Given the description of an element on the screen output the (x, y) to click on. 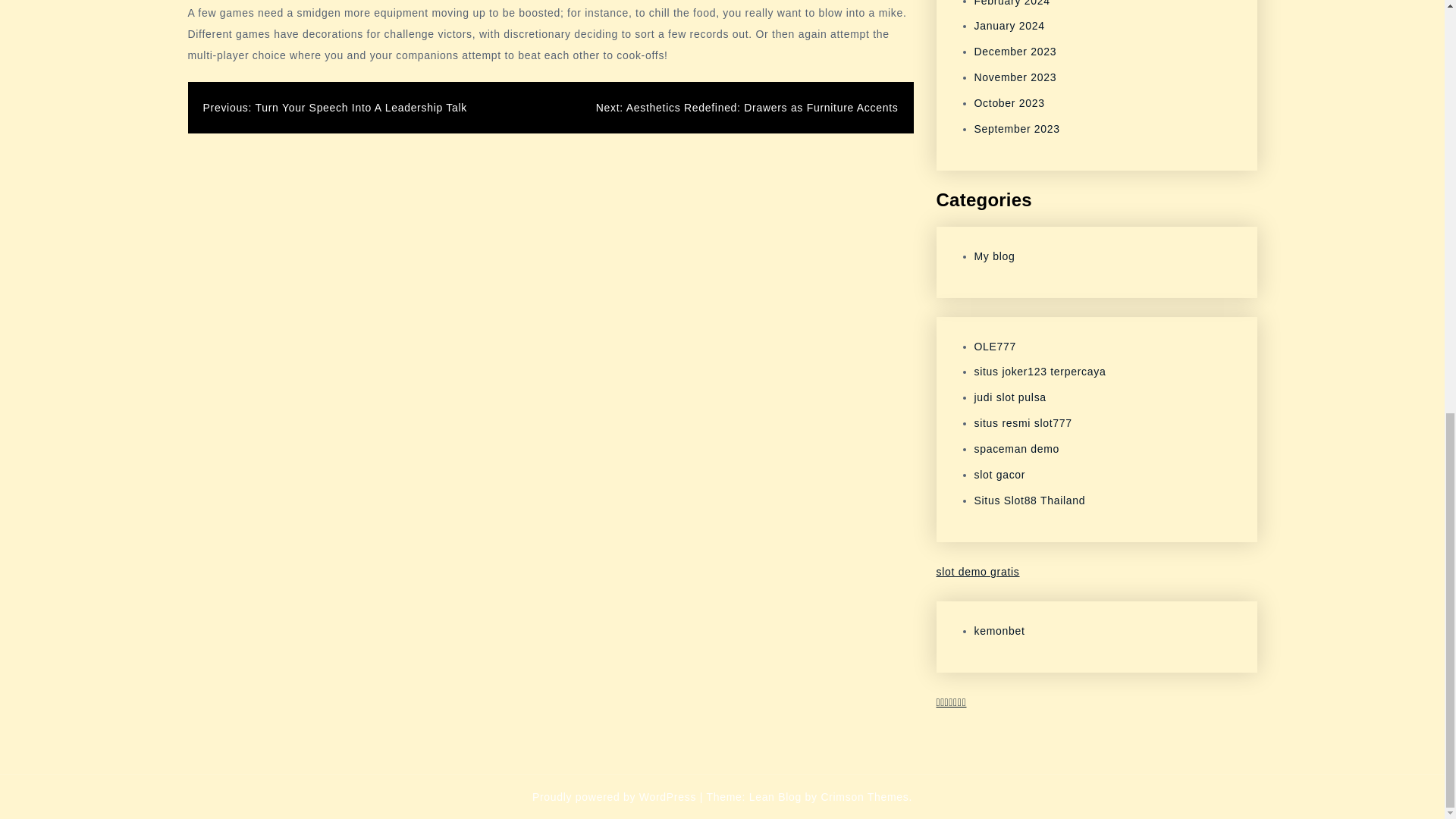
judi slot pulsa (1009, 397)
Next: Aesthetics Redefined: Drawers as Furniture Accents (746, 107)
Previous: Turn Your Speech Into A Leadership Talk (335, 107)
slot gacor (999, 474)
slot demo gratis (977, 571)
My blog (994, 256)
November 2023 (1015, 77)
kemonbet (999, 630)
September 2023 (1016, 128)
October 2023 (1008, 102)
